Given the description of an element on the screen output the (x, y) to click on. 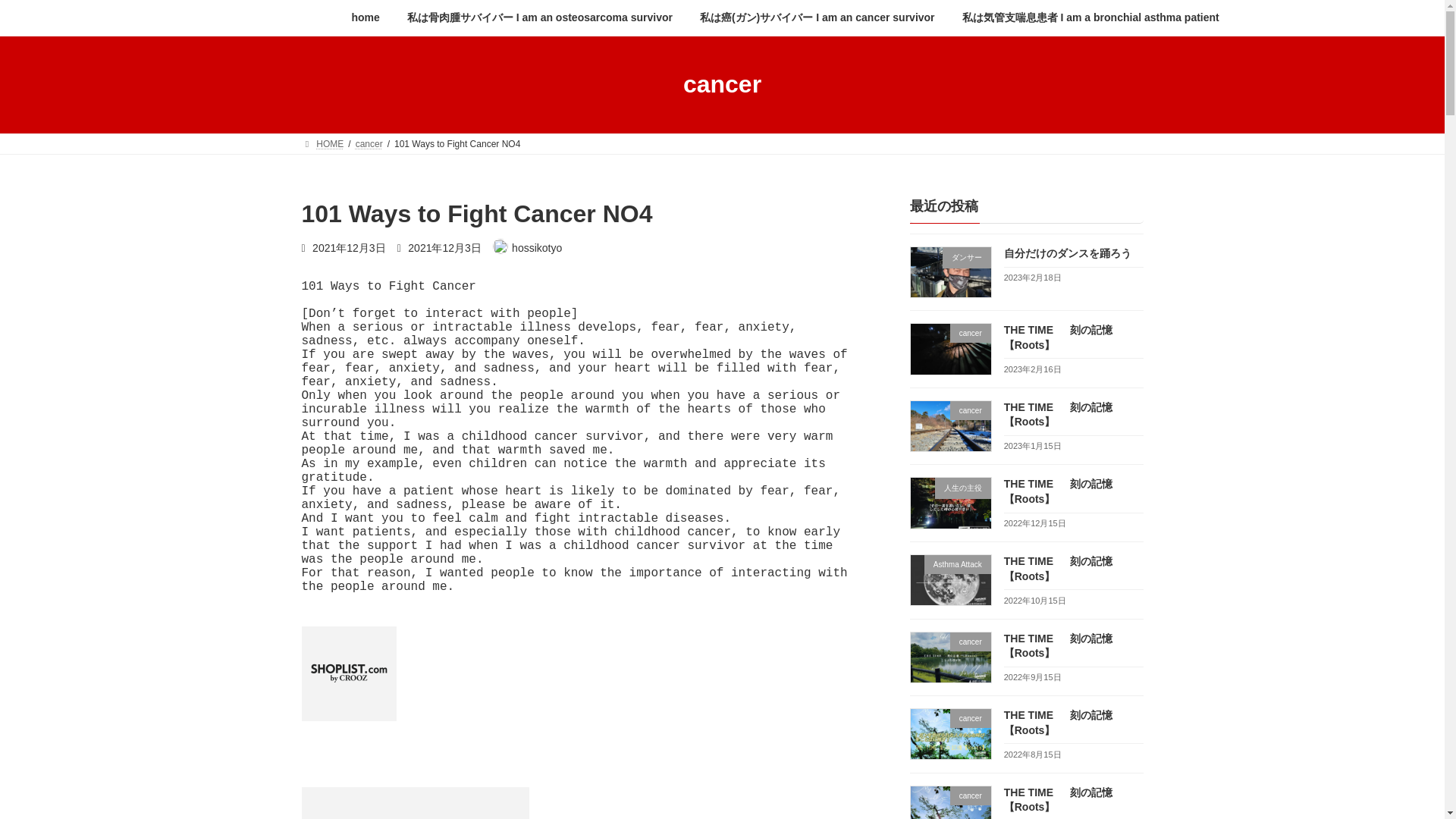
HOME (322, 143)
home (365, 18)
cancer (368, 143)
